Given the description of an element on the screen output the (x, y) to click on. 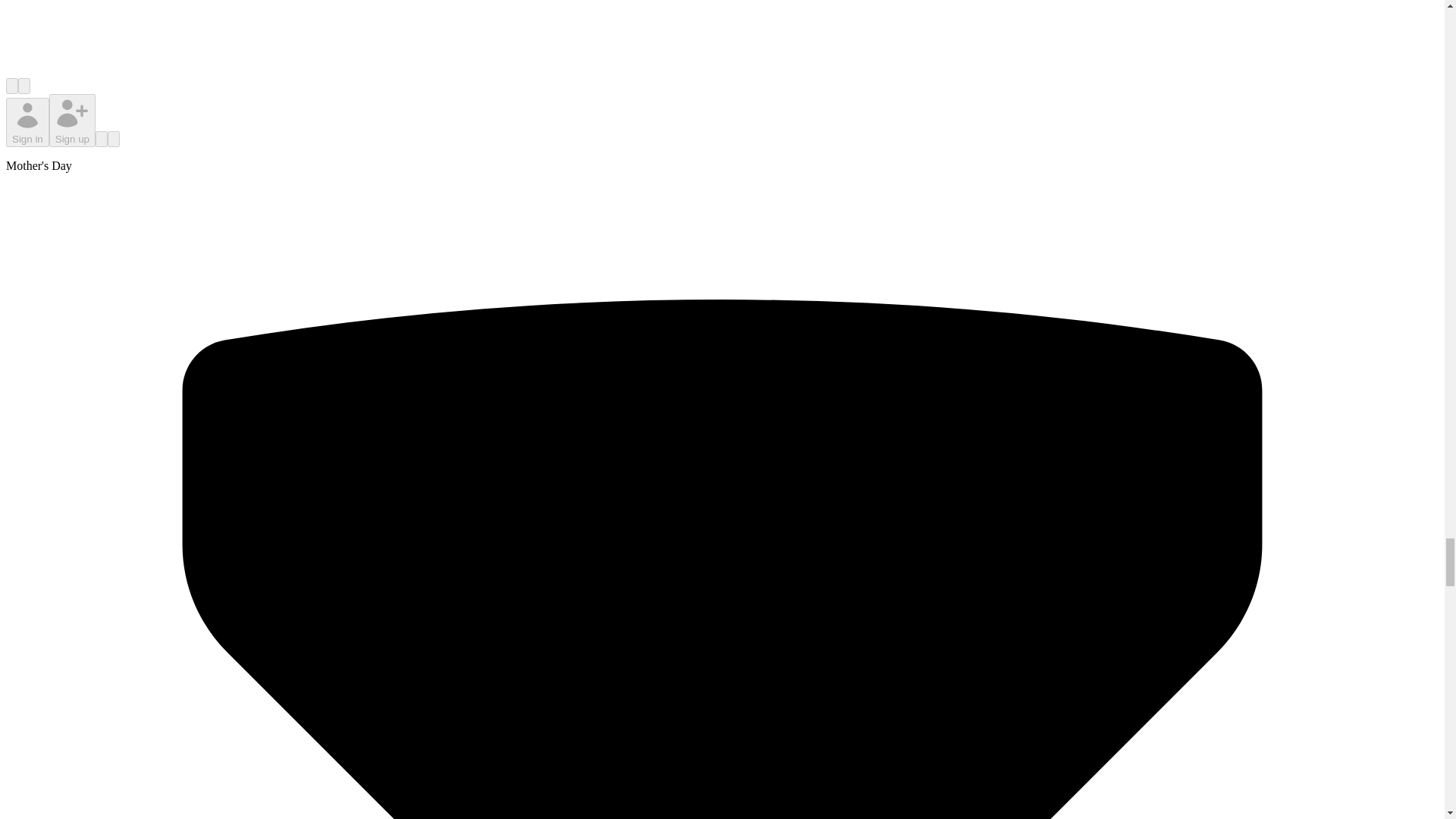
Sign in (27, 122)
Sign up (72, 120)
